Given the description of an element on the screen output the (x, y) to click on. 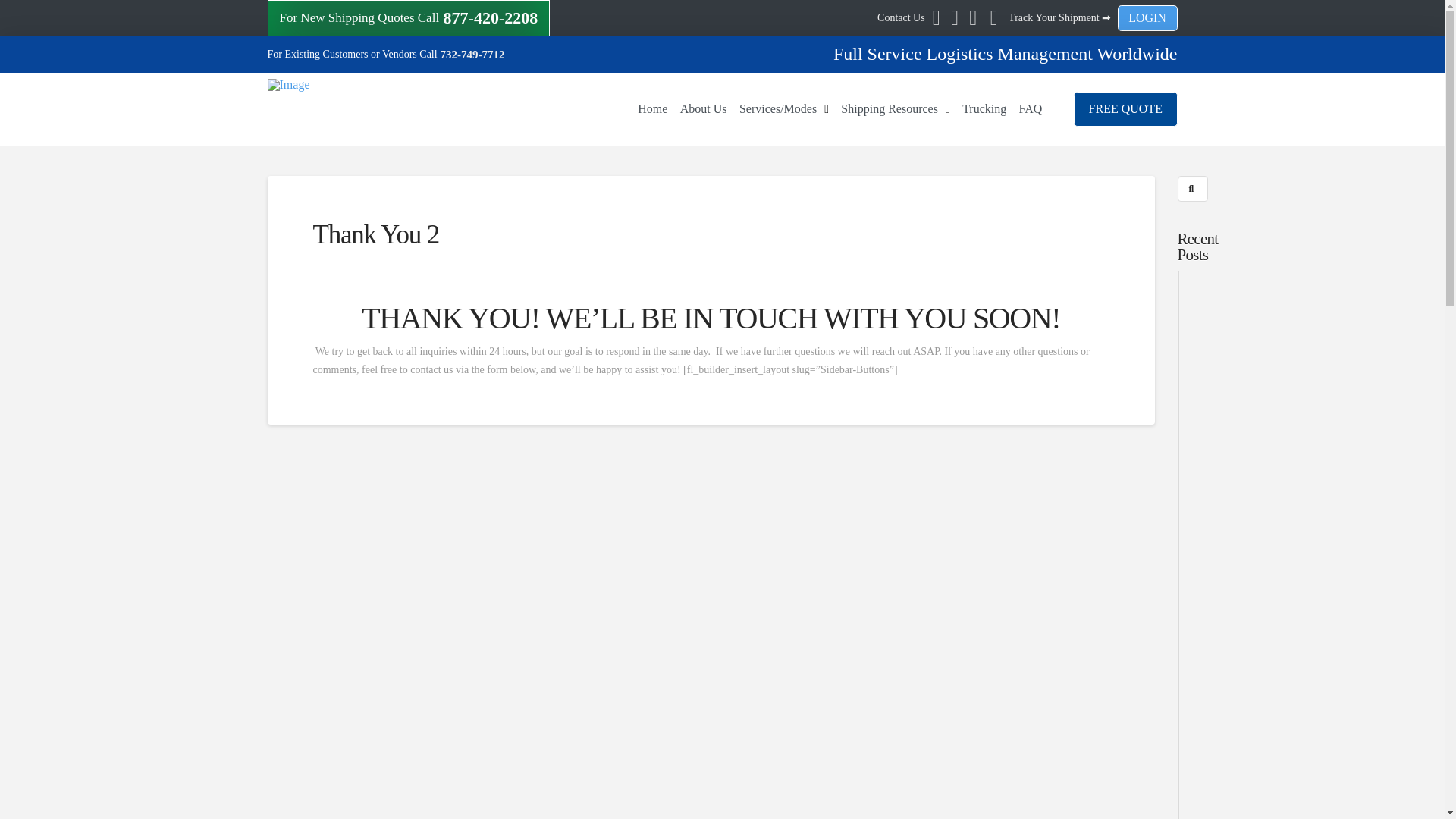
Shipping Resources (895, 108)
FREE QUOTE (1125, 108)
 877-420-2208 (488, 17)
LOGIN (1147, 17)
Contact Us (900, 17)
 732-749-7712 (471, 54)
